Given the description of an element on the screen output the (x, y) to click on. 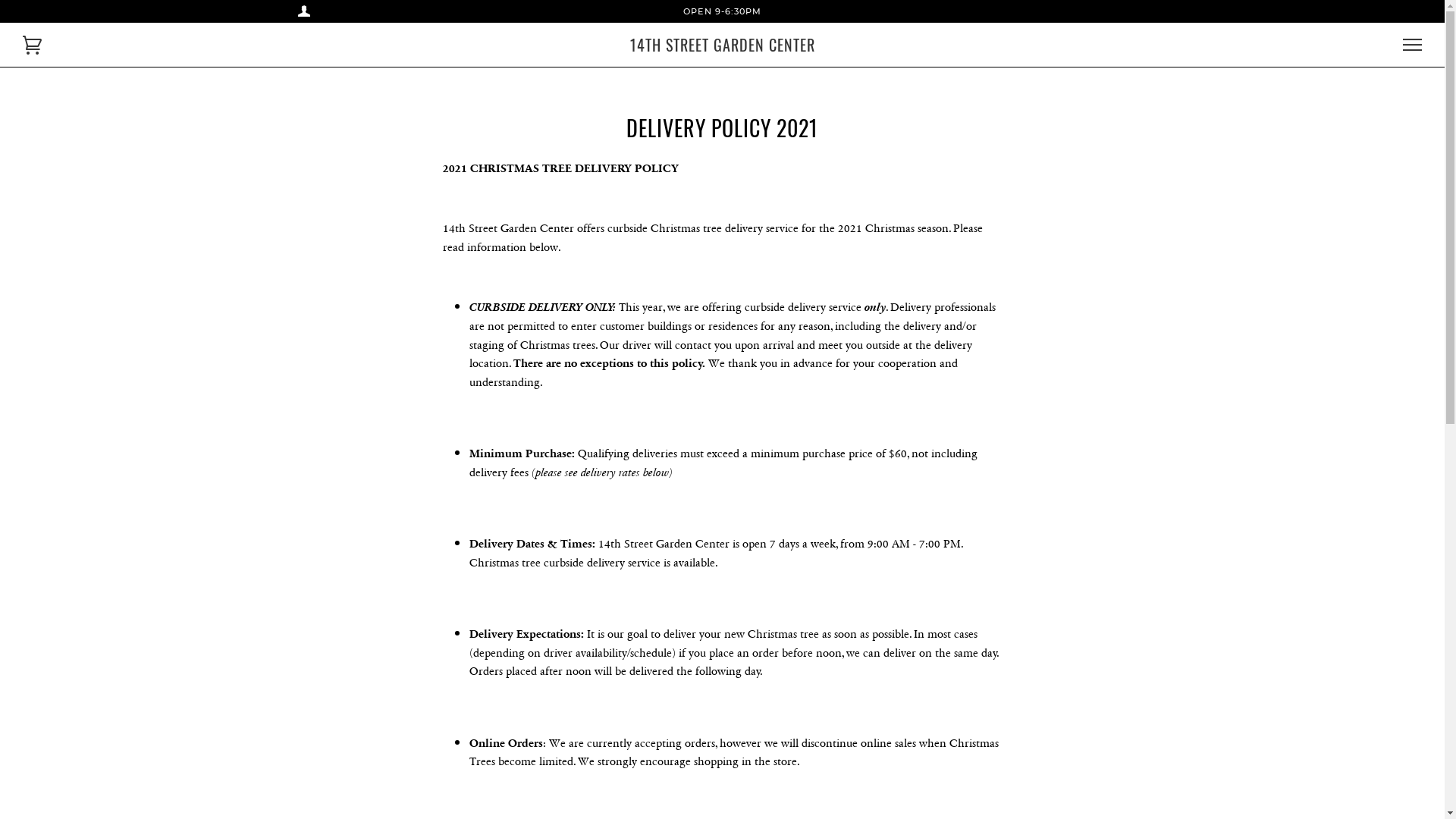
14TH STREET GARDEN CENTER Element type: text (721, 44)
